Given the description of an element on the screen output the (x, y) to click on. 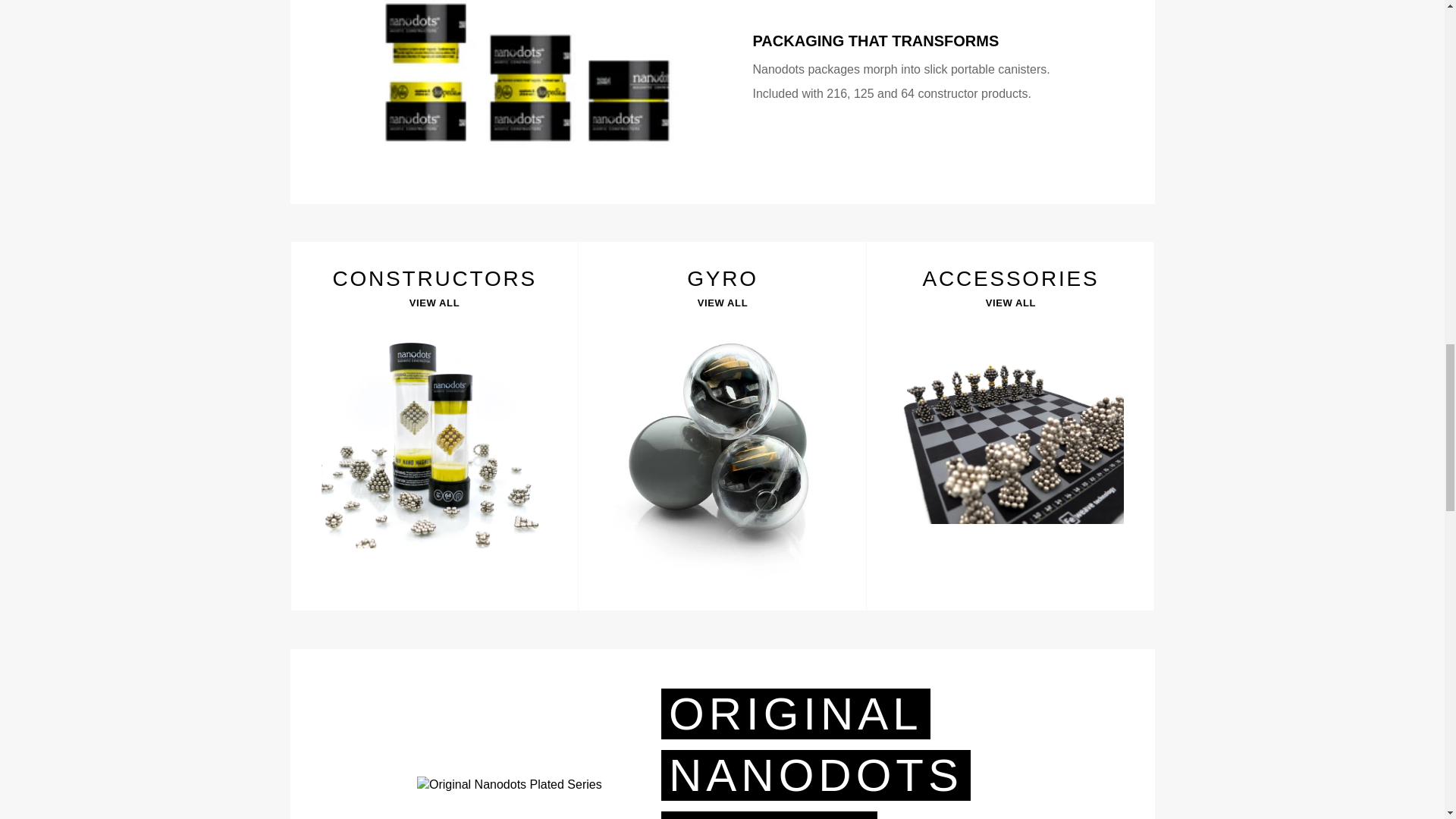
ORIGINAL NANODOTS PLATED SERIES (816, 753)
